Given the description of an element on the screen output the (x, y) to click on. 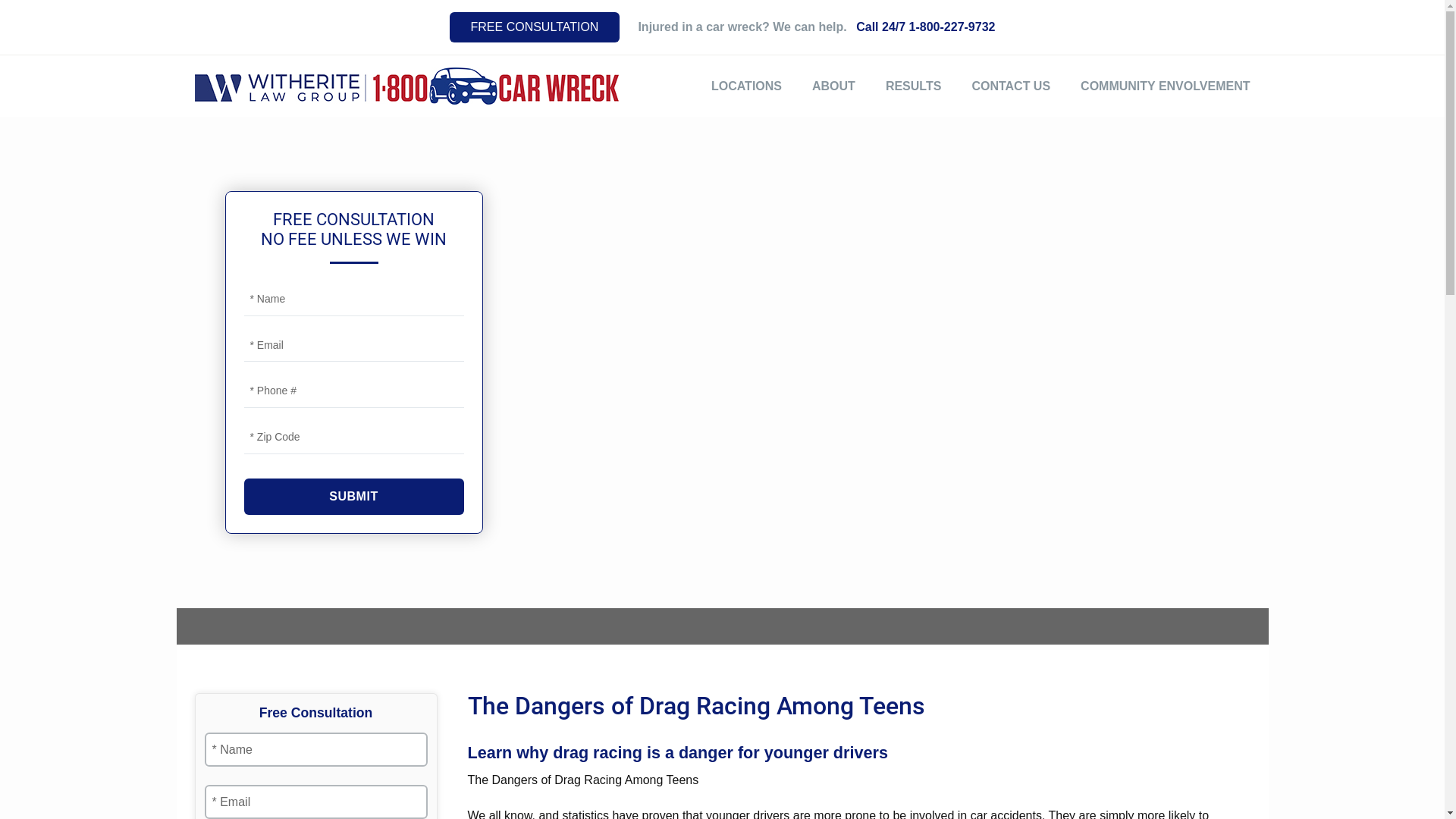
CONTACT US Element type: text (1010, 86)
LOCATIONS Element type: text (746, 86)
COMMUNITY ENVOLVEMENT Element type: text (1164, 86)
FREE CONSULTATION Element type: text (534, 27)
RESULTS Element type: text (913, 86)
Call 24/7 1-800-227-9732 Element type: text (925, 26)
ABOUT Element type: text (833, 86)
SUBMIT Element type: text (354, 496)
